Given the description of an element on the screen output the (x, y) to click on. 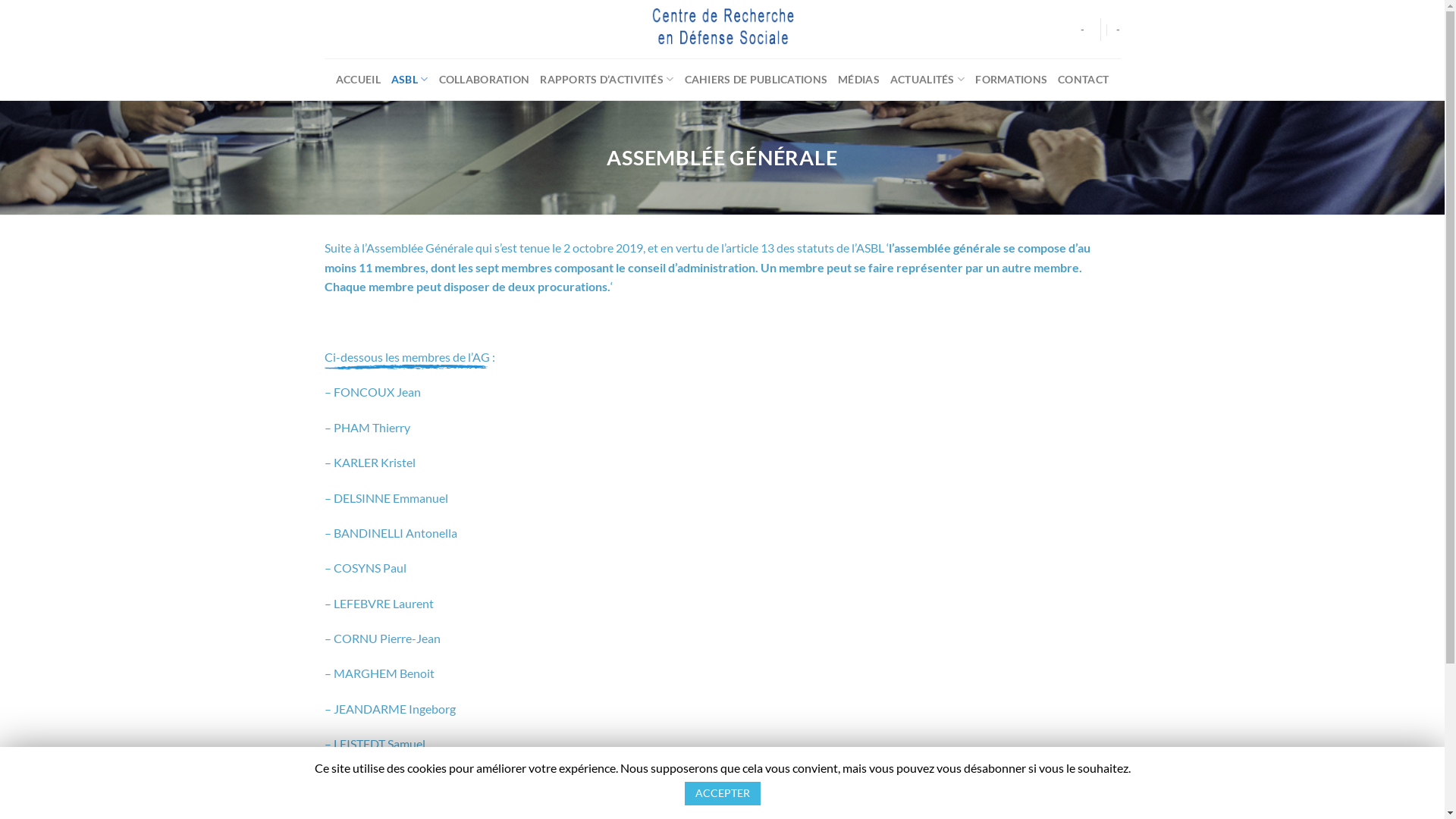
- Element type: text (1118, 28)
ACCUEIL Element type: text (357, 78)
FORMATIONS Element type: text (1011, 78)
Skip to content Element type: text (0, 0)
ASBL Element type: text (409, 79)
CAHIERS DE PUBLICATIONS Element type: text (755, 78)
ACCEPTER Element type: text (721, 793)
- Element type: text (1082, 28)
COLLABORATION Element type: text (483, 78)
CONTACT Element type: text (1082, 78)
